Given the description of an element on the screen output the (x, y) to click on. 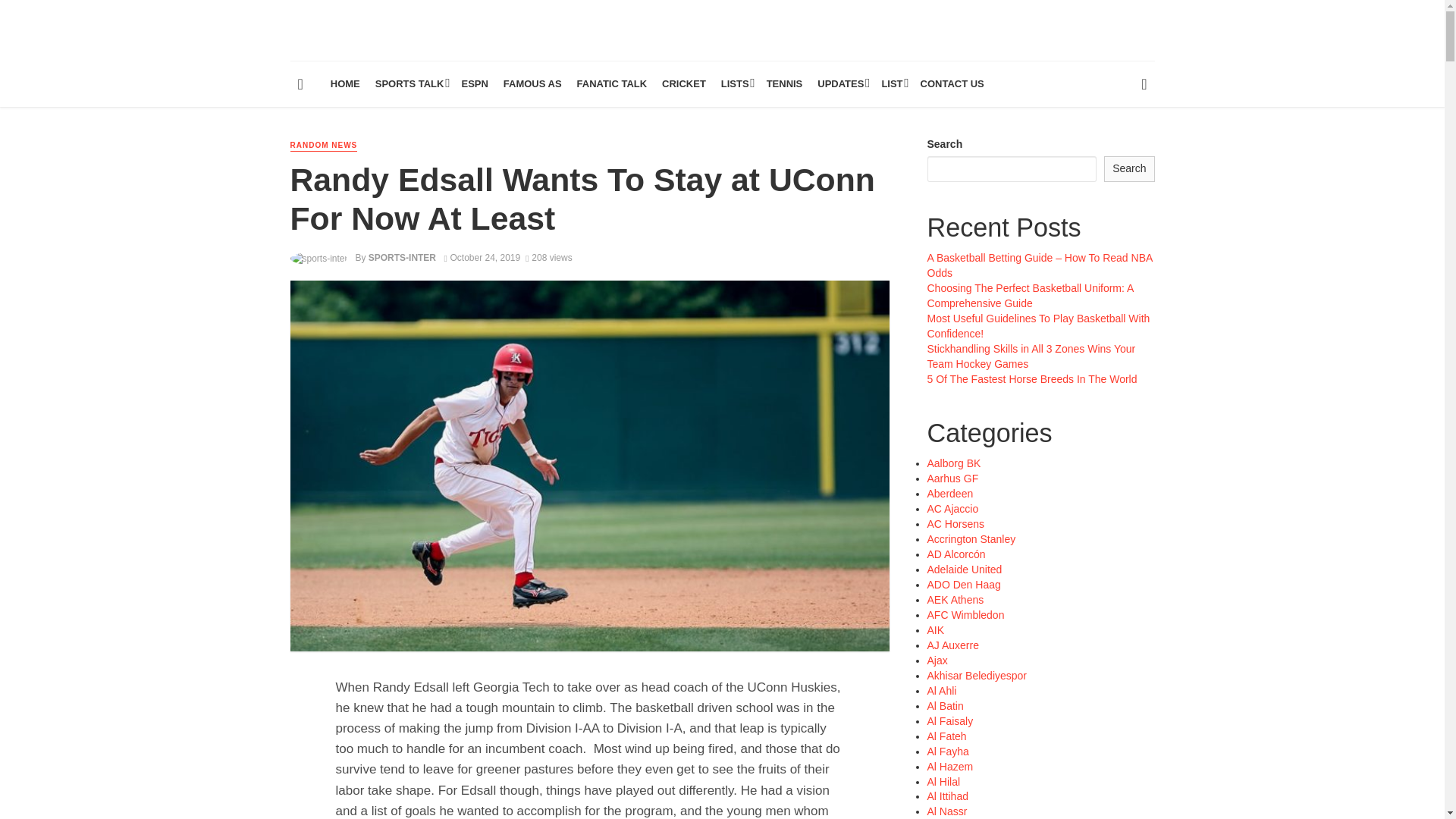
October 24, 2019 at 9:07 am (482, 257)
ESPN (473, 84)
TENNIS (784, 84)
SPORTS TALK (411, 84)
FAMOUS AS (532, 84)
Posts by sports-inter (401, 257)
LISTS (735, 84)
HOME (345, 84)
CRICKET (683, 84)
FANATIC TALK (612, 84)
UPDATES (841, 84)
